Given the description of an element on the screen output the (x, y) to click on. 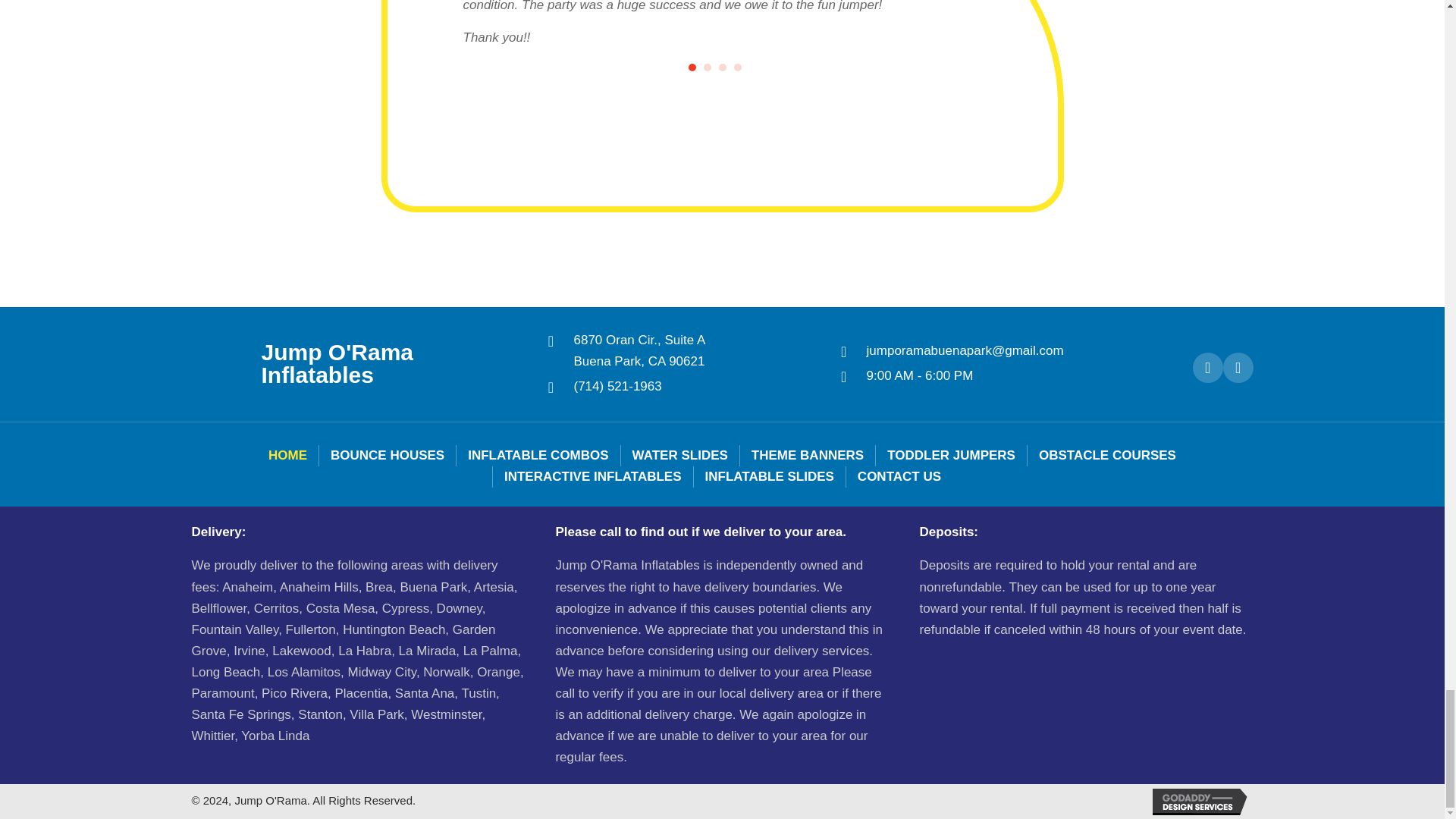
2 (707, 67)
WATER SLIDES (680, 455)
1 (638, 350)
INFLATABLE COMBOS (691, 67)
3 (538, 455)
4 (722, 67)
BOUNCE HOUSES (737, 67)
HOME (386, 455)
